Given the description of an element on the screen output the (x, y) to click on. 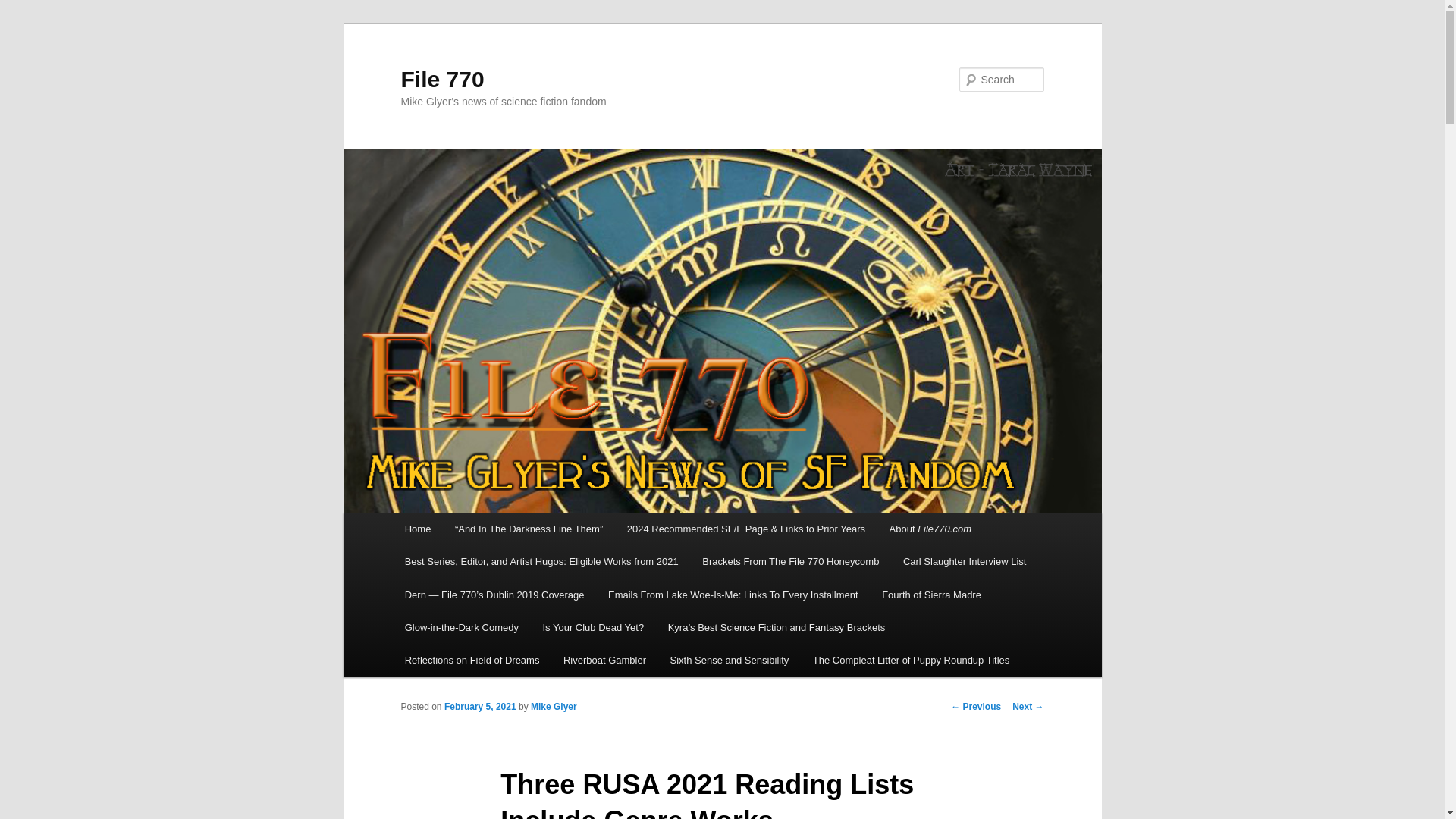
View all posts by Mike Glyer (553, 706)
February 5, 2021 (480, 706)
Brackets From The File 770 Honeycomb (790, 561)
Carl Slaughter Interview List (964, 561)
Home (417, 528)
Mike Glyer (553, 706)
Search (24, 8)
Emails From Lake Woe-Is-Me: Links To Every Installment (732, 594)
2:38 pm (480, 706)
Riverboat Gambler (604, 659)
The Compleat Litter of Puppy Roundup Titles (911, 659)
Glow-in-the-Dark Comedy (462, 626)
About File770.com (930, 528)
Is Your Club Dead Yet? (593, 626)
